Given the description of an element on the screen output the (x, y) to click on. 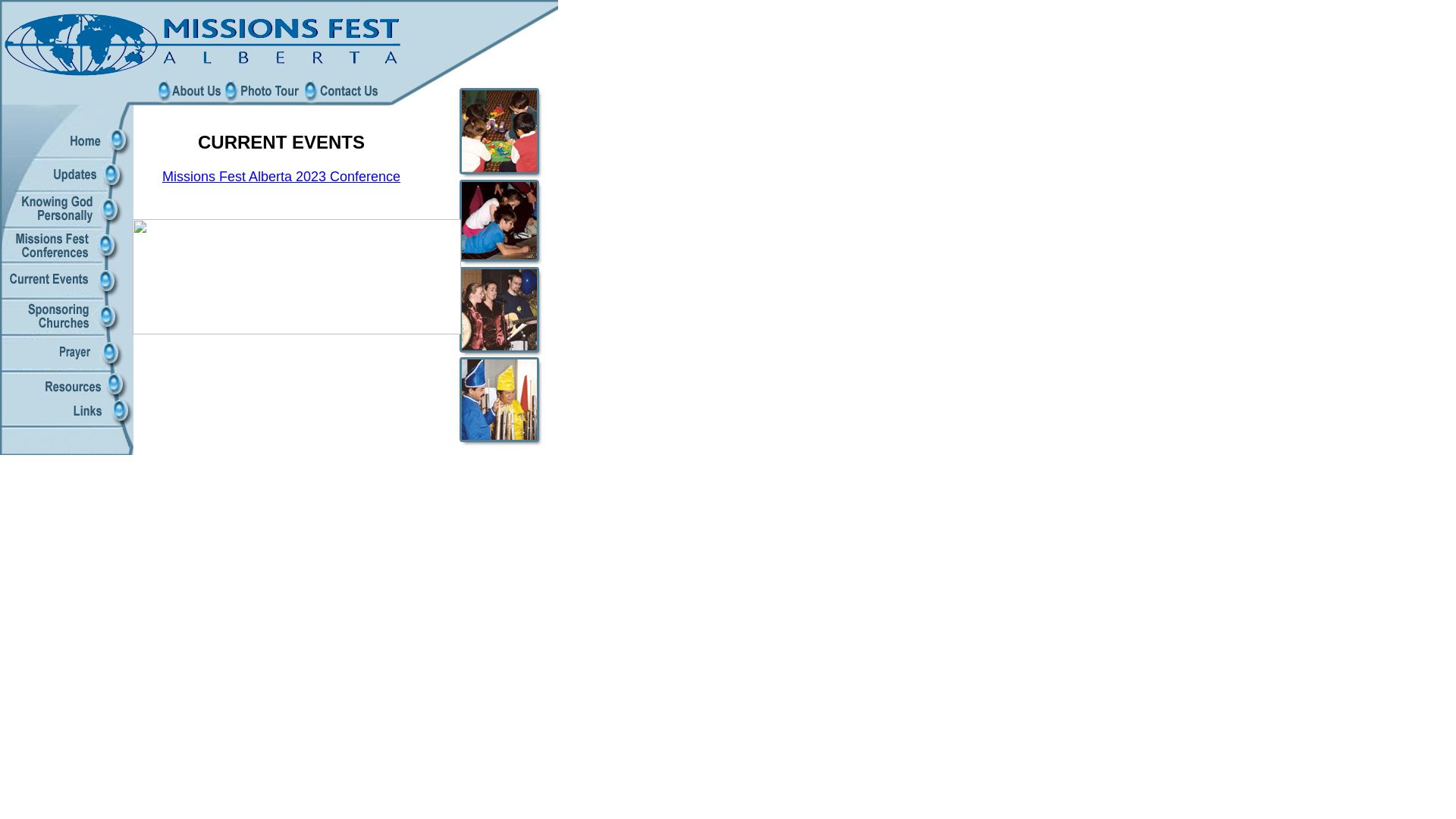
Missions Fest Alberta 2023 Conference Element type: text (281, 176)
